Given the description of an element on the screen output the (x, y) to click on. 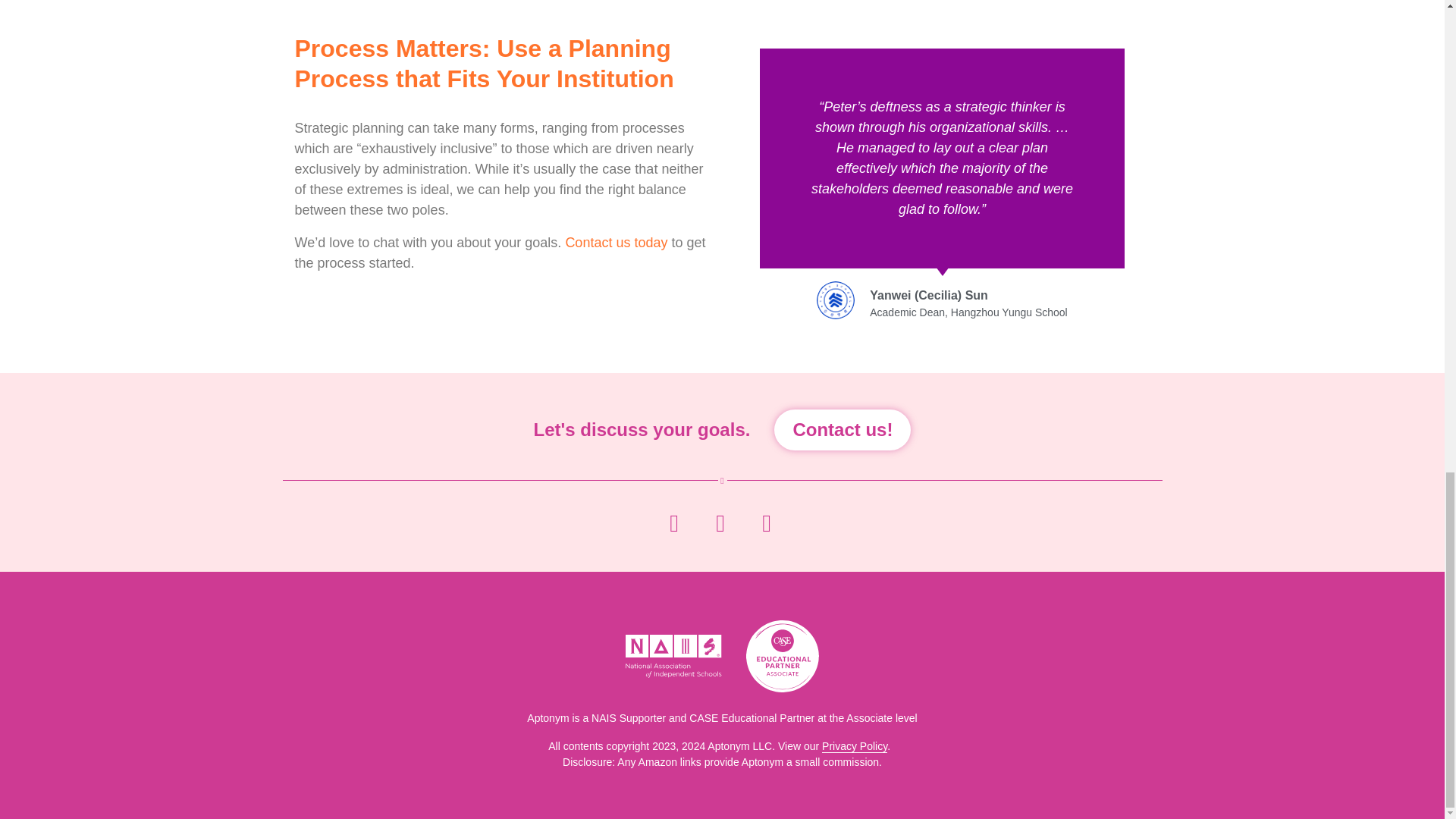
Contact us today (615, 242)
Contact us! (842, 429)
Privacy Policy (854, 746)
